Given the description of an element on the screen output the (x, y) to click on. 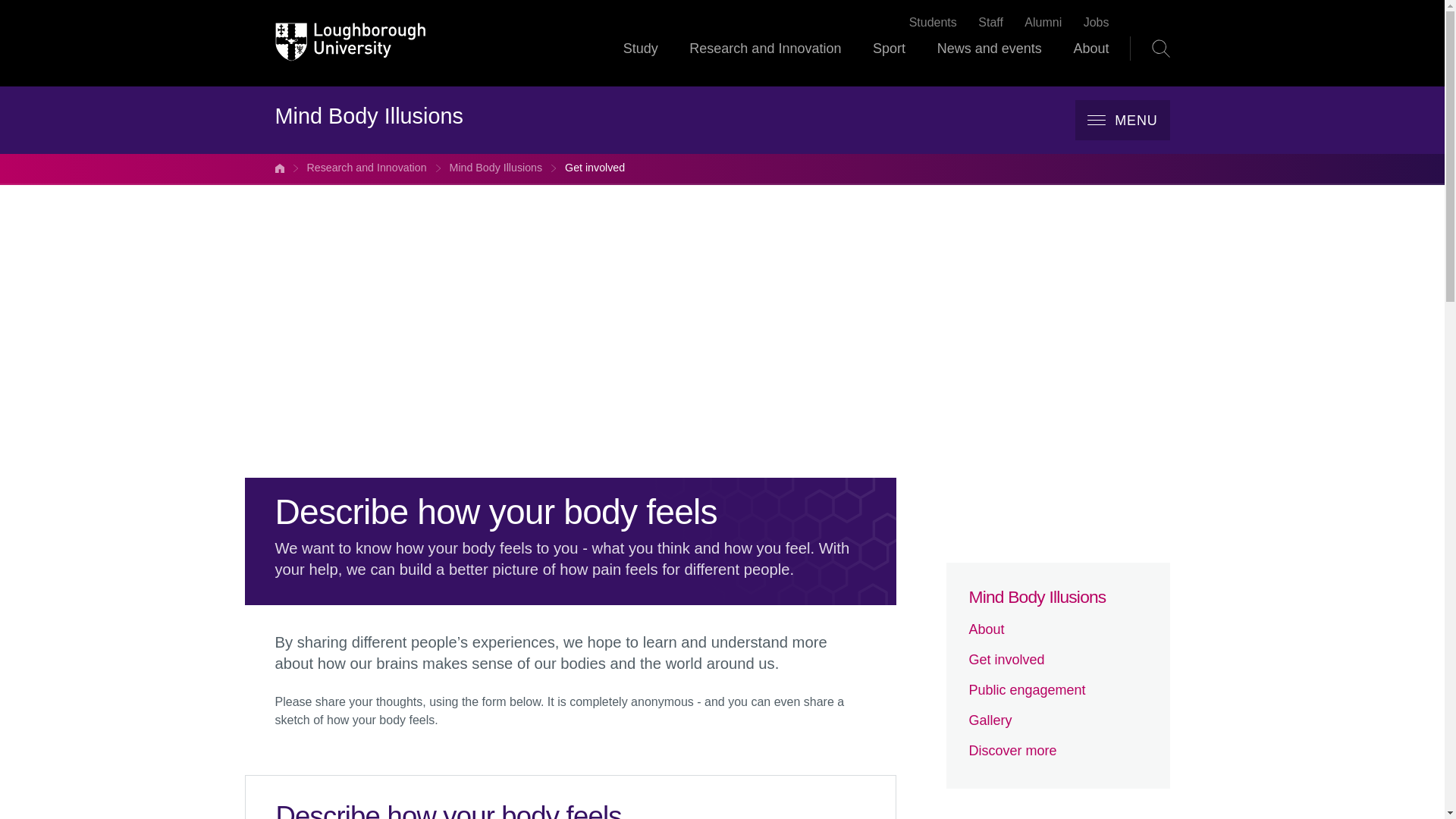
Staff (990, 22)
Mind Body Illusions (496, 168)
News and events (989, 61)
Research and Innovation (365, 168)
Mind Body Illusions (1058, 597)
MENU (1122, 119)
About (1058, 629)
Public engagement (1058, 690)
Students (932, 22)
Discover more (1058, 750)
